Given the description of an element on the screen output the (x, y) to click on. 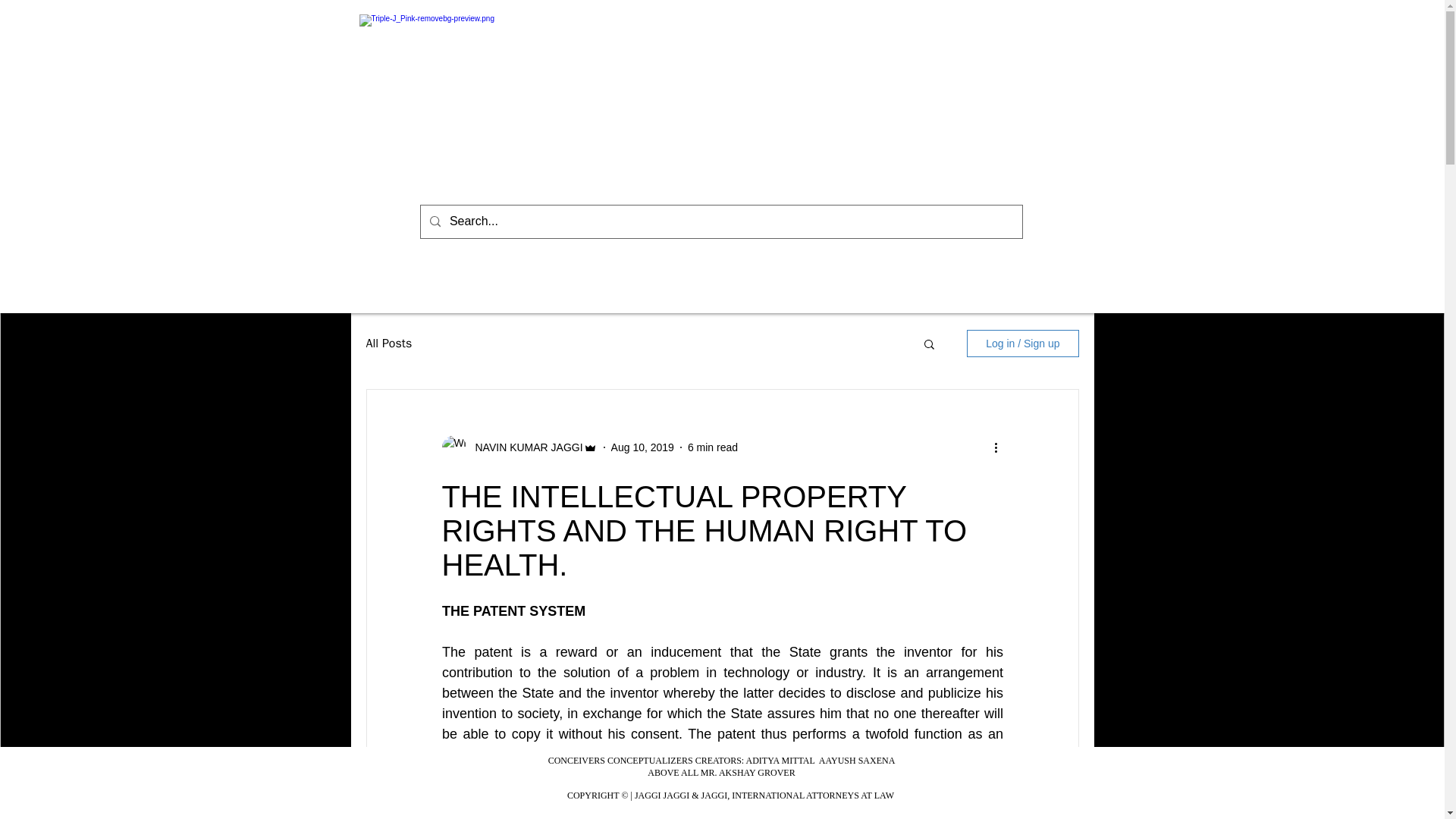
Aug 10, 2019 (642, 447)
NAVIN KUMAR JAGGI (523, 447)
All Posts (388, 342)
6 min read (712, 447)
NAVIN KUMAR JAGGI (518, 446)
